Given the description of an element on the screen output the (x, y) to click on. 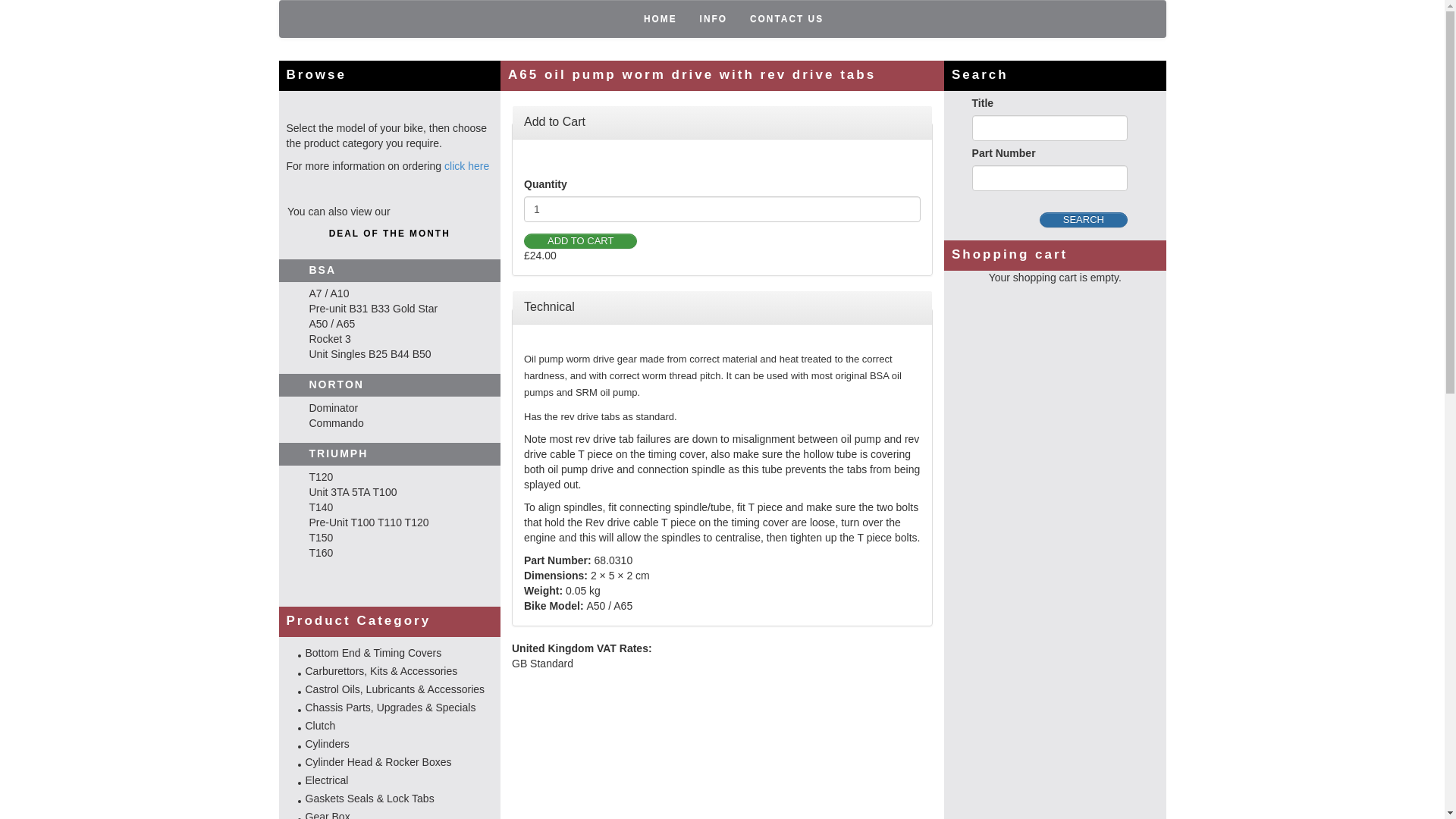
Clutch (319, 725)
CONTACT US (786, 18)
click here (466, 165)
INFO (713, 18)
DEAL OF THE MONTH (389, 233)
Pre-Unit T100 T110 T120 (354, 522)
Unit 3TA 5TA T100 (338, 491)
T150 (306, 537)
1 (722, 208)
